Given the description of an element on the screen output the (x, y) to click on. 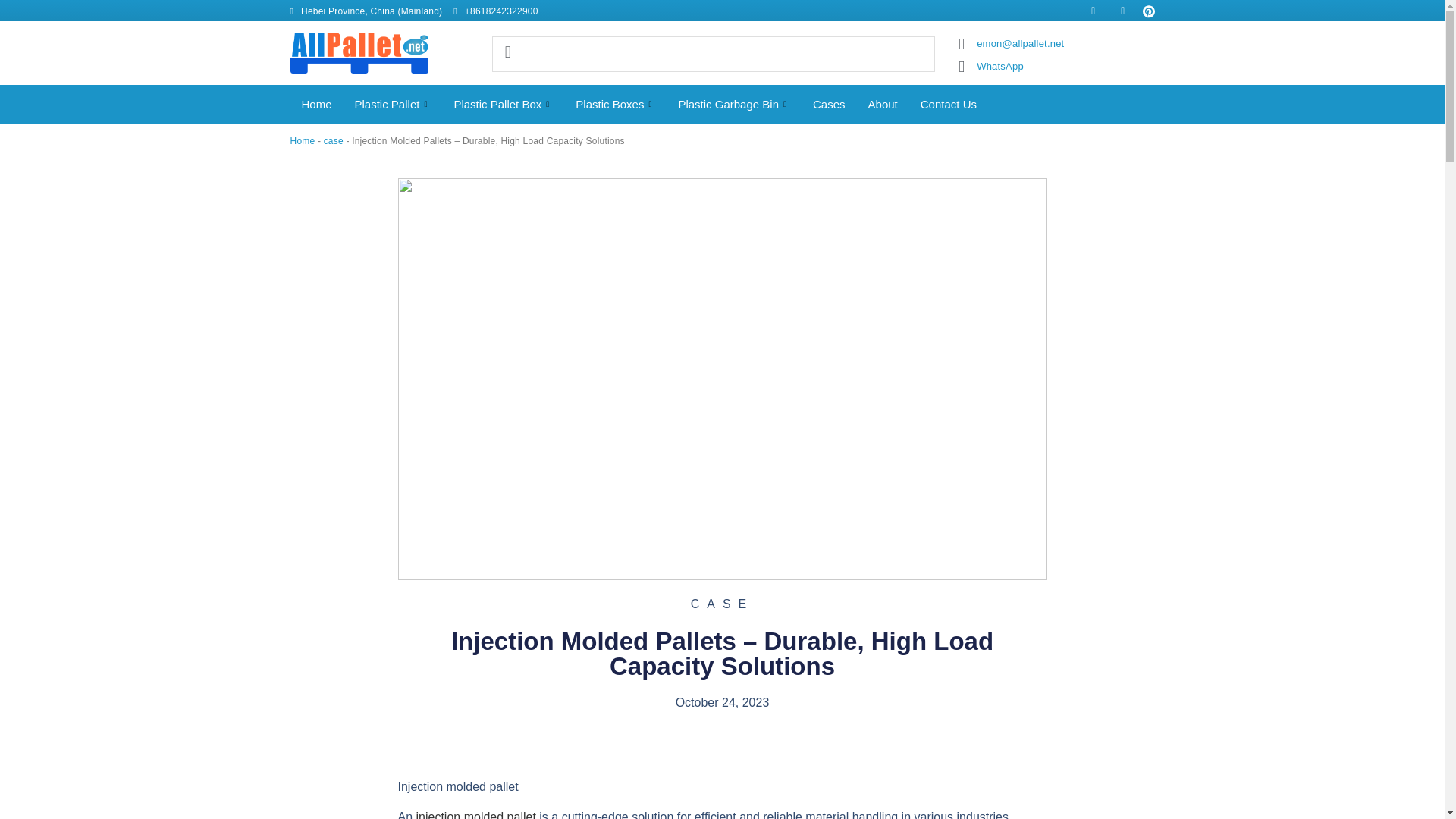
WhatsApp (990, 66)
